Given the description of an element on the screen output the (x, y) to click on. 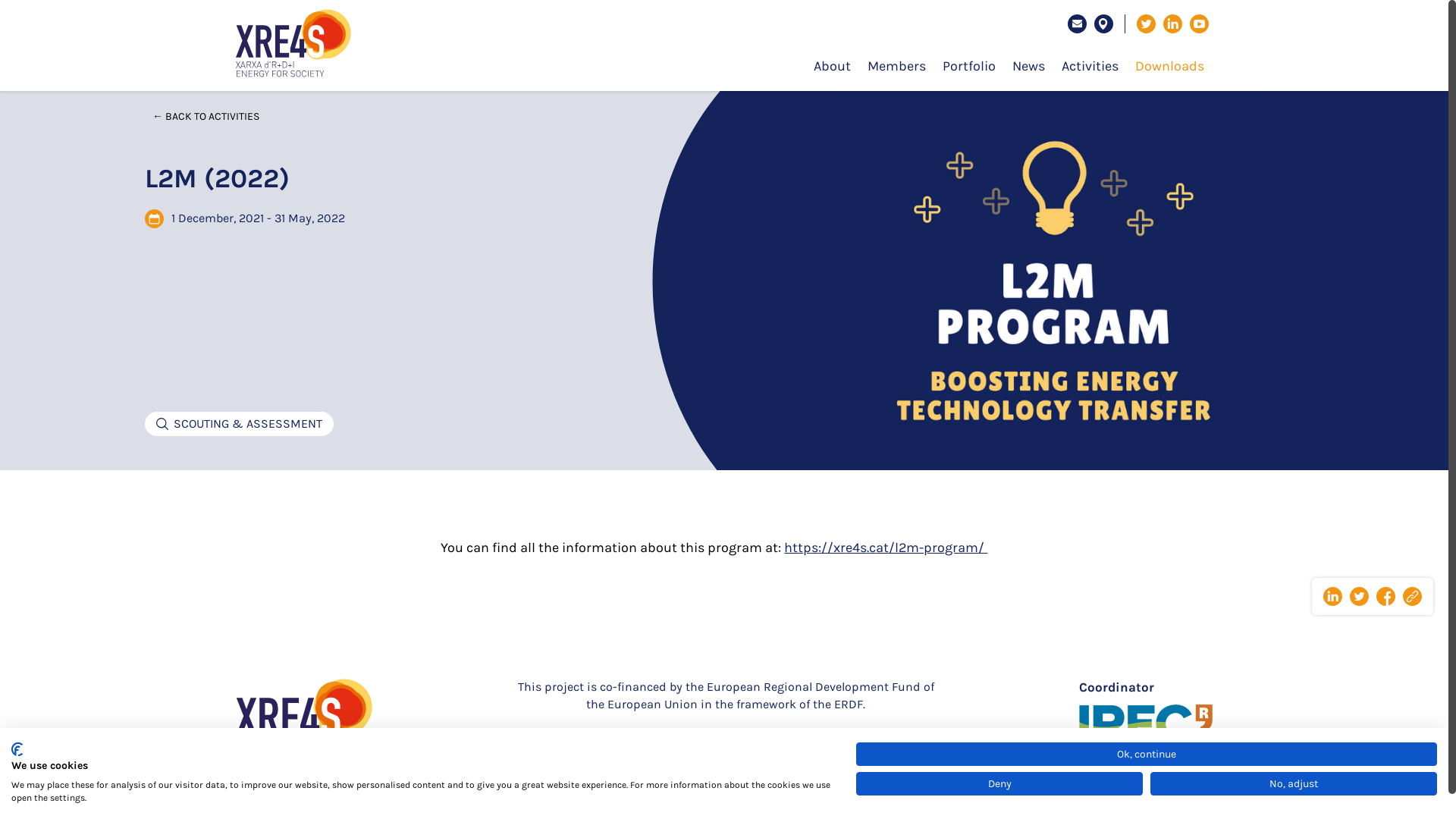
Ok, continue Element type: text (1146, 753)
News Element type: text (1028, 66)
https://xre4s.cat/l2m-program/  Element type: text (885, 547)
About Element type: text (831, 66)
Downloads Element type: text (1169, 66)
Generalitat de Catalunya Element type: hover (833, 742)
Portfolio Element type: text (968, 66)
Deny Element type: text (999, 783)
Activities Element type: text (1089, 66)
IREC Element type: hover (1145, 729)
No, adjust Element type: text (1293, 783)
Members Element type: text (896, 66)
